Given the description of an element on the screen output the (x, y) to click on. 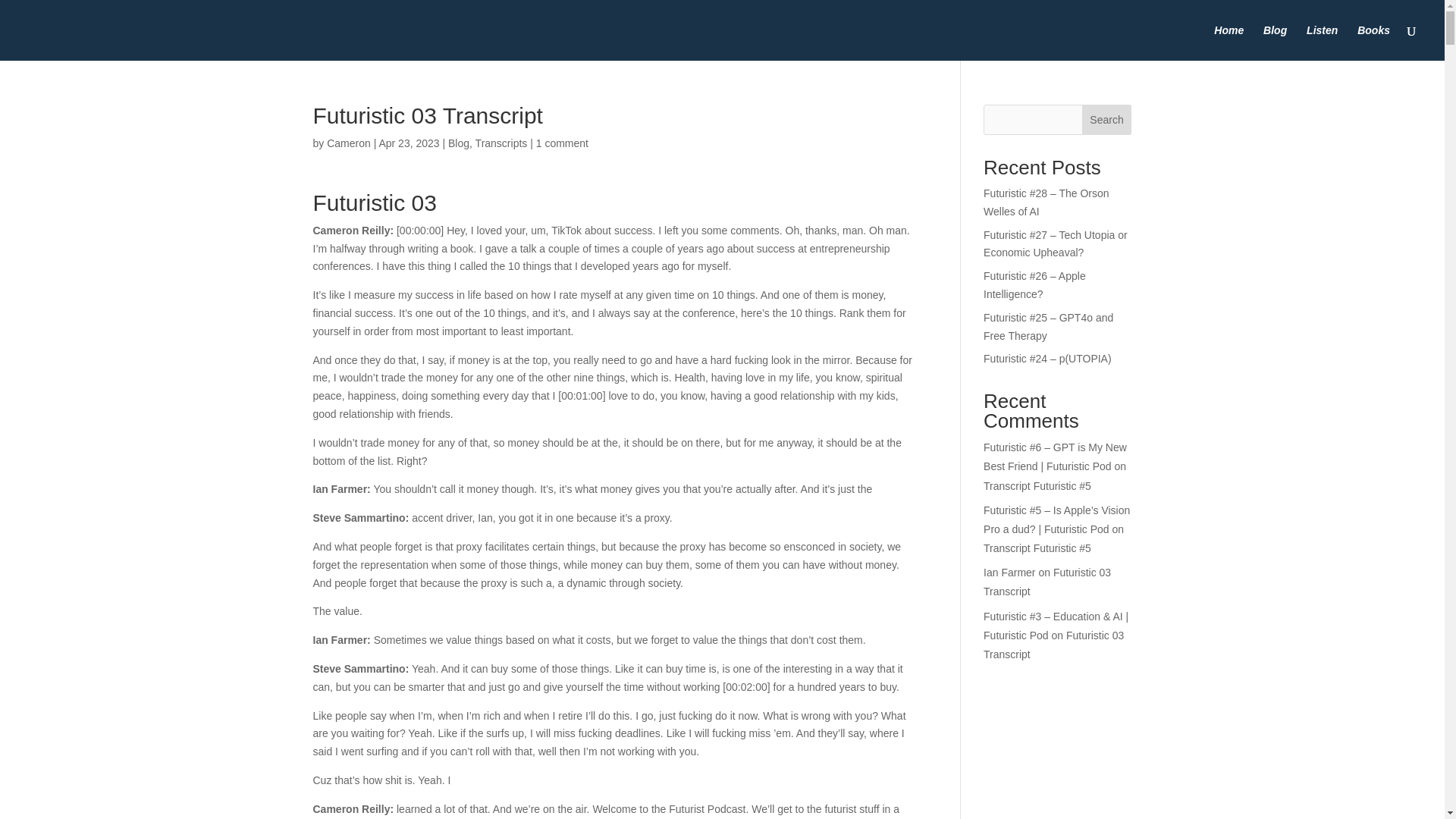
1 comment (561, 143)
Futuristic 03 Transcript (1054, 644)
Transcripts (501, 143)
Blog (458, 143)
Ian Farmer (1009, 572)
Books (1373, 42)
Posts by Cameron (348, 143)
Futuristic 03 Transcript (1047, 581)
Search (1106, 119)
Cameron (348, 143)
